Given the description of an element on the screen output the (x, y) to click on. 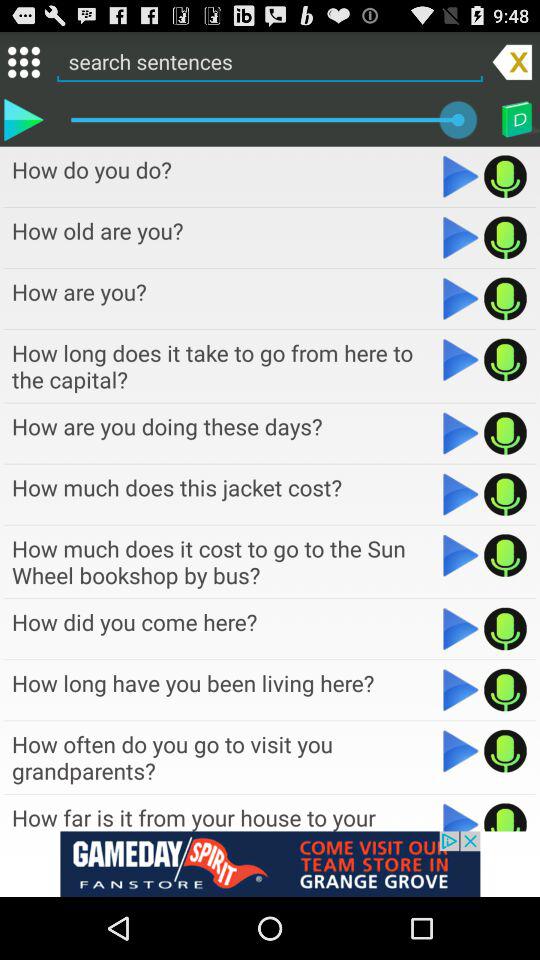
record button (505, 628)
